Given the description of an element on the screen output the (x, y) to click on. 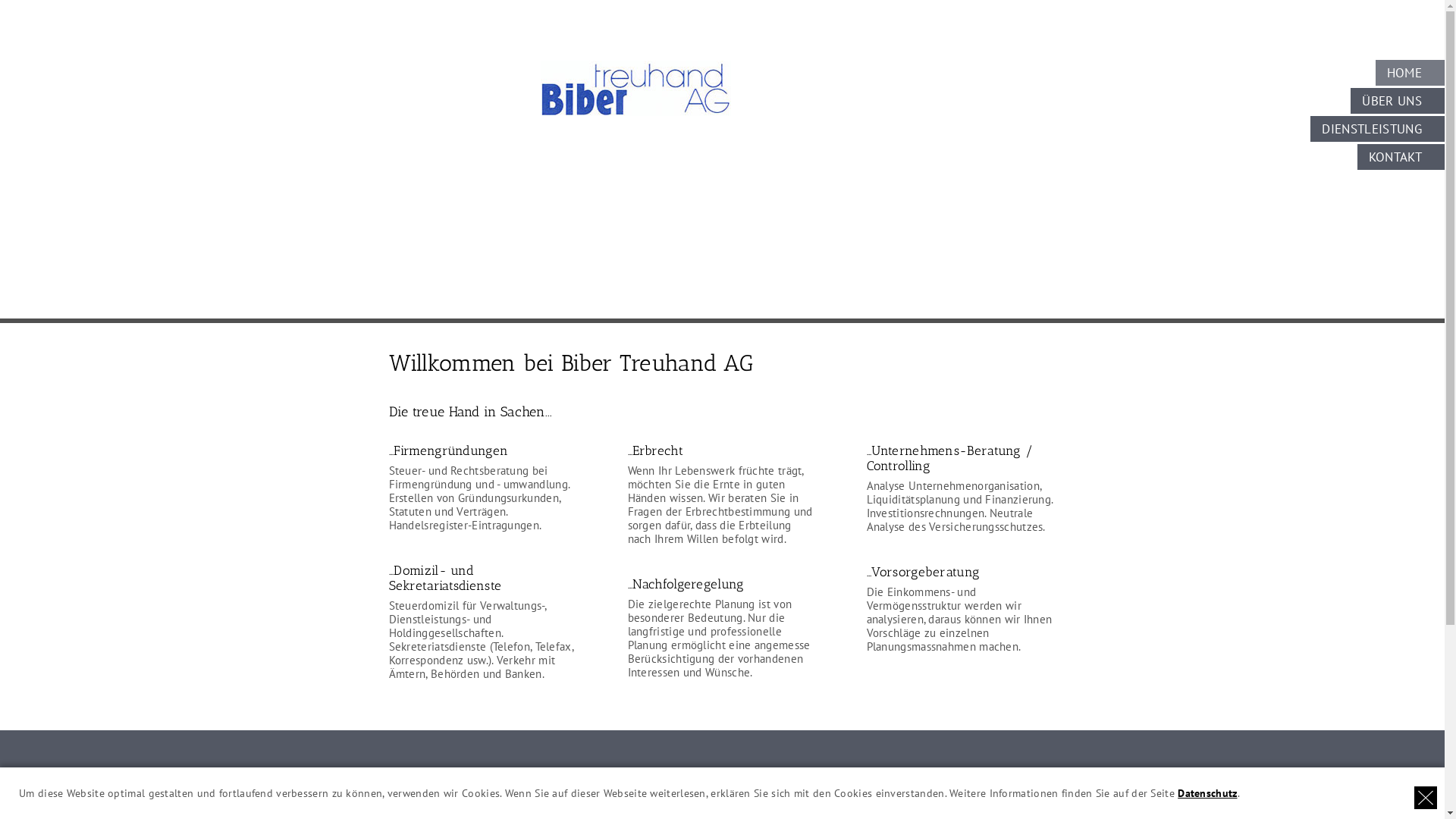
  Element type: text (1425, 797)
DIENSTLEISTUNG Element type: text (1377, 128)
Datenschutz Element type: text (1206, 793)
HOME Element type: text (1409, 72)
KONTAKT Element type: text (1400, 156)
